Given the description of an element on the screen output the (x, y) to click on. 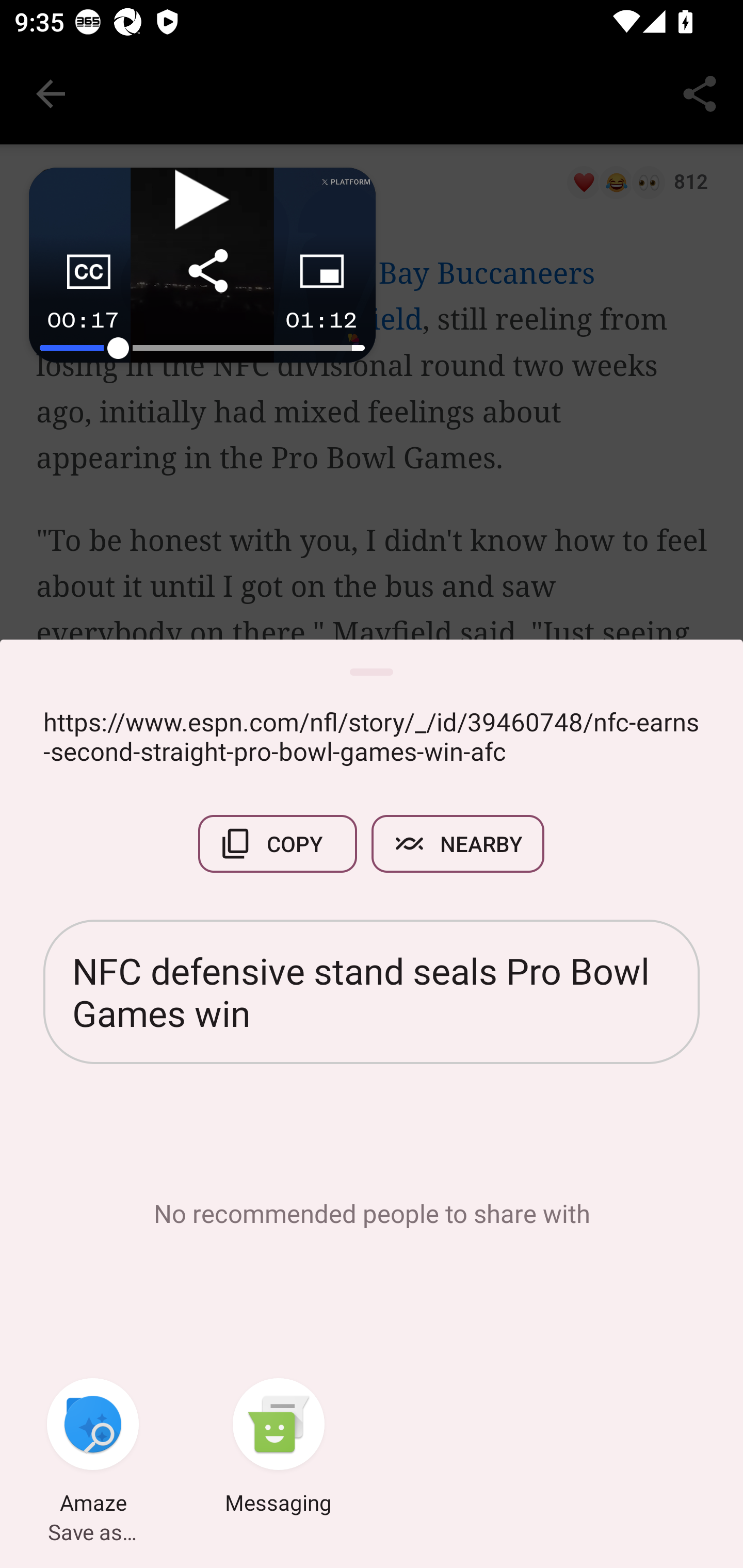
COPY (277, 844)
NEARBY (457, 844)
Amaze Save as… (92, 1448)
Messaging (278, 1448)
